Given the description of an element on the screen output the (x, y) to click on. 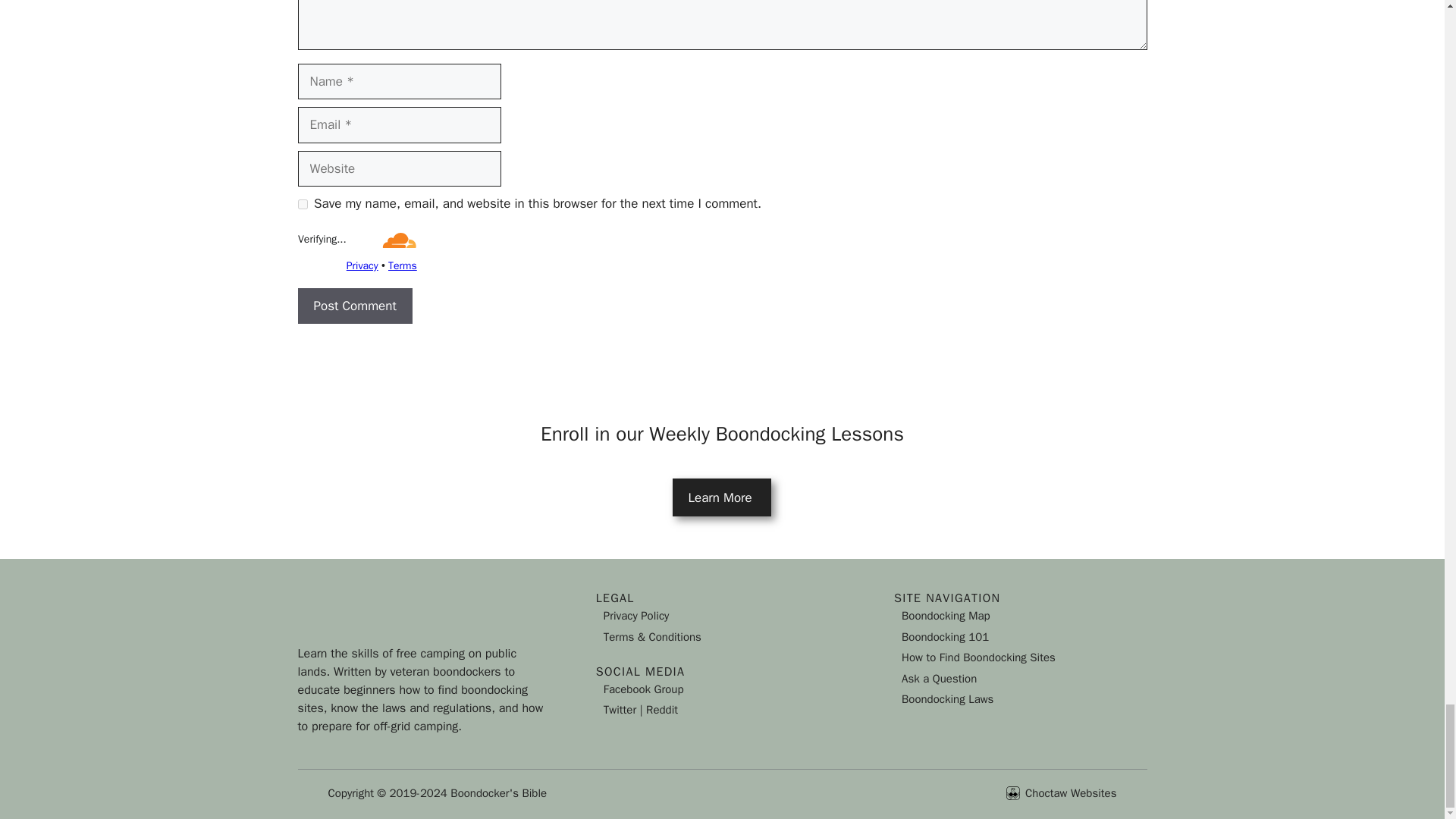
yes (302, 204)
Post Comment (354, 306)
